Given the description of an element on the screen output the (x, y) to click on. 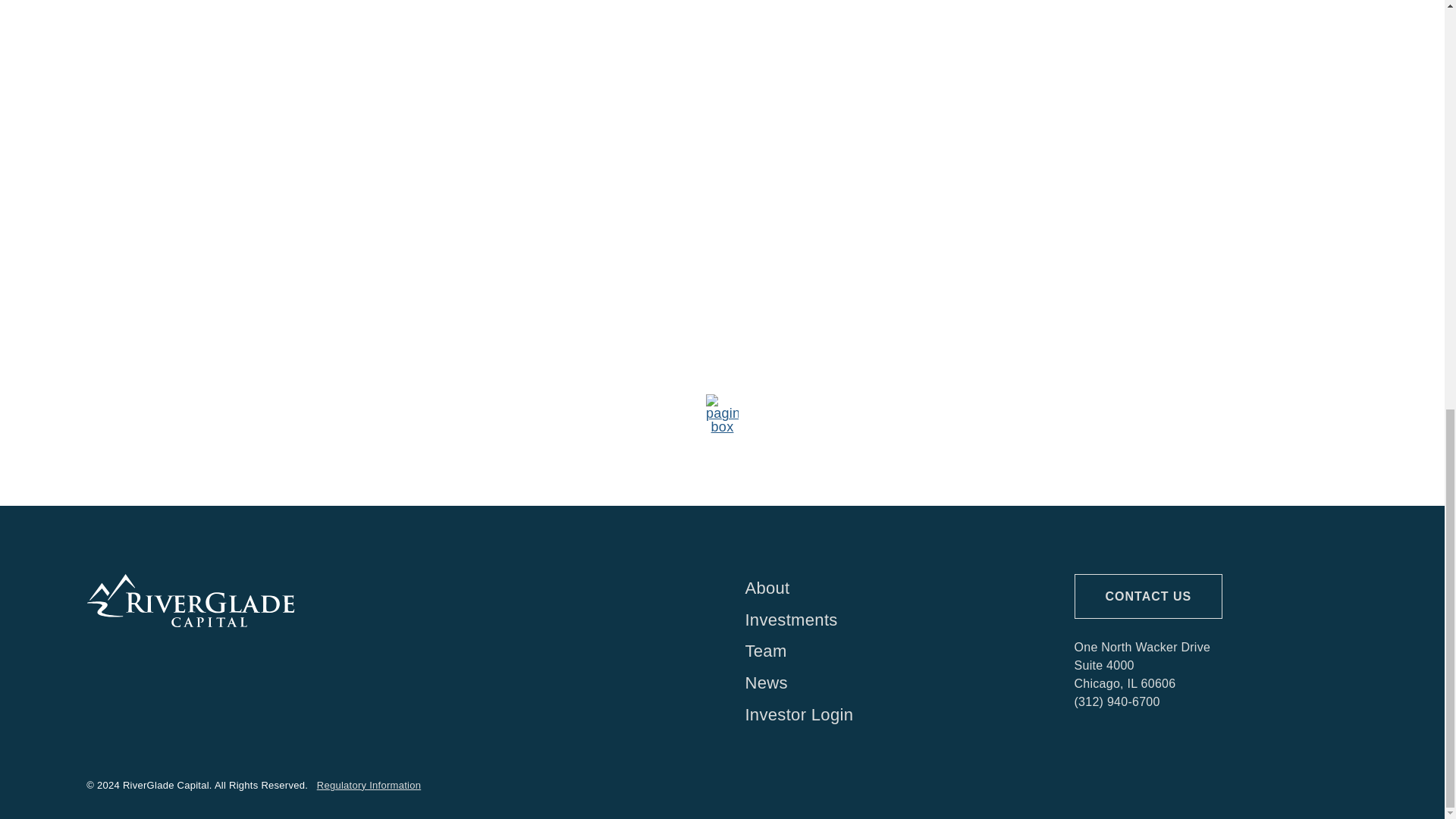
RiverGlade Capital logo (190, 600)
About (885, 588)
Investments (885, 620)
Team (885, 651)
Next (1117, 411)
Regulatory Information (368, 785)
Investor Login (885, 715)
CONTACT US (1148, 596)
News (885, 683)
Previous (325, 411)
